Given the description of an element on the screen output the (x, y) to click on. 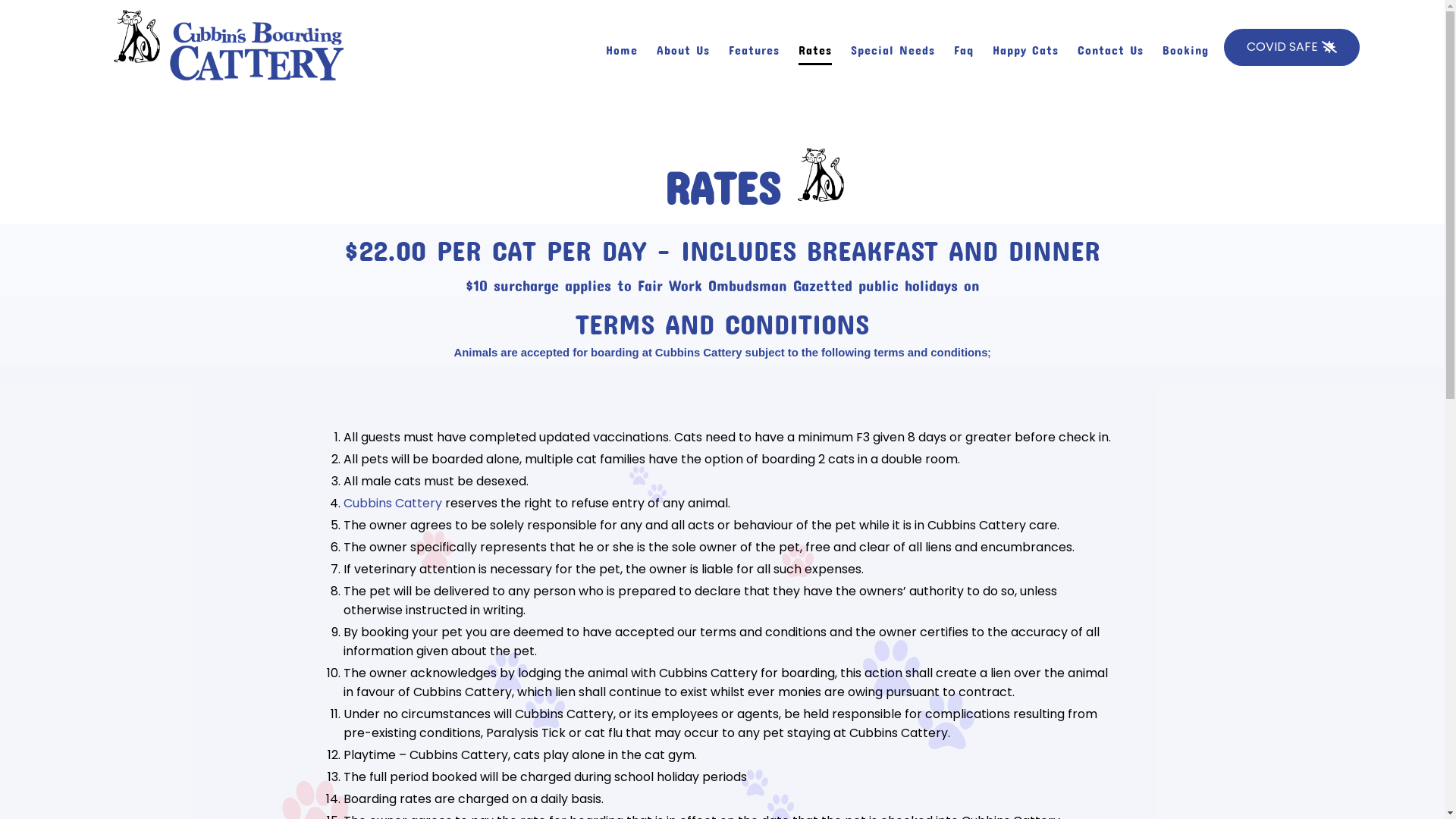
Booking Element type: text (1185, 47)
Cubbins Cattery Element type: text (391, 502)
Home Element type: text (621, 47)
Rates Element type: text (814, 47)
Contact Us Element type: text (1110, 47)
Features Element type: text (753, 47)
COVID SAFE Element type: text (1291, 46)
Happy Cats Element type: text (1025, 47)
Faq Element type: text (963, 47)
Special Needs Element type: text (892, 47)
About Us Element type: text (682, 47)
